Given the description of an element on the screen output the (x, y) to click on. 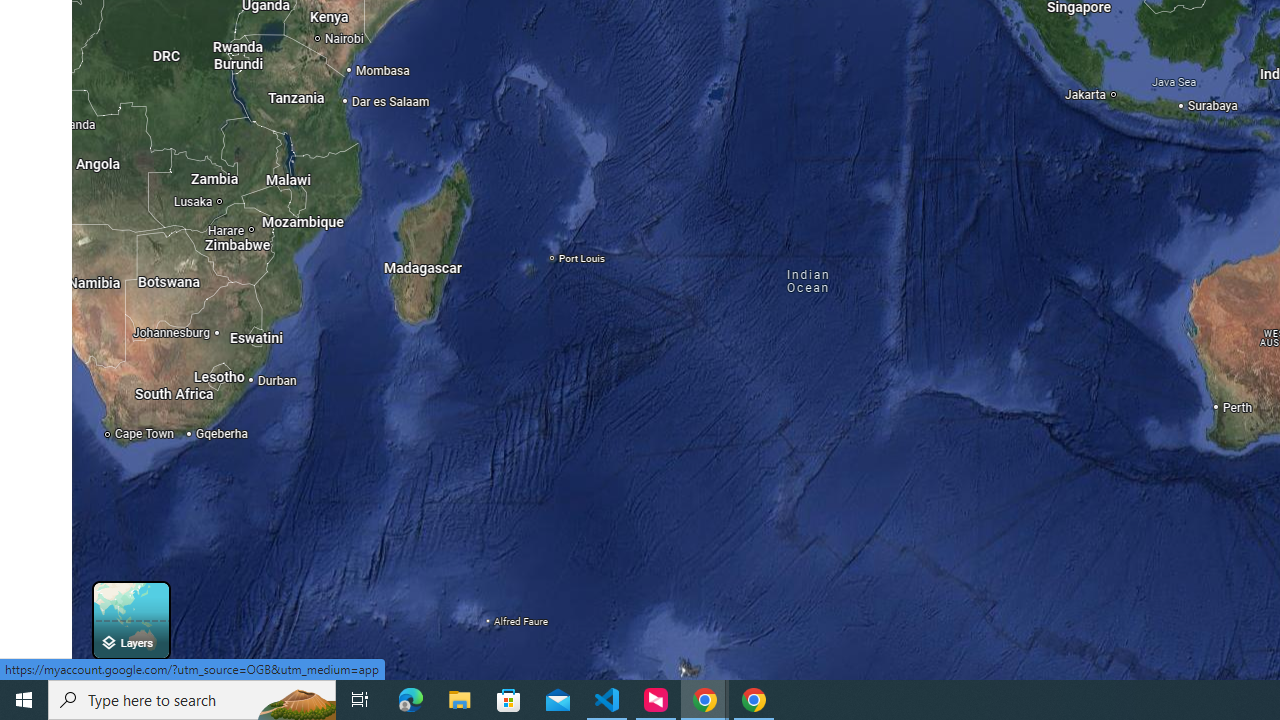
Layers (130, 620)
